Given the description of an element on the screen output the (x, y) to click on. 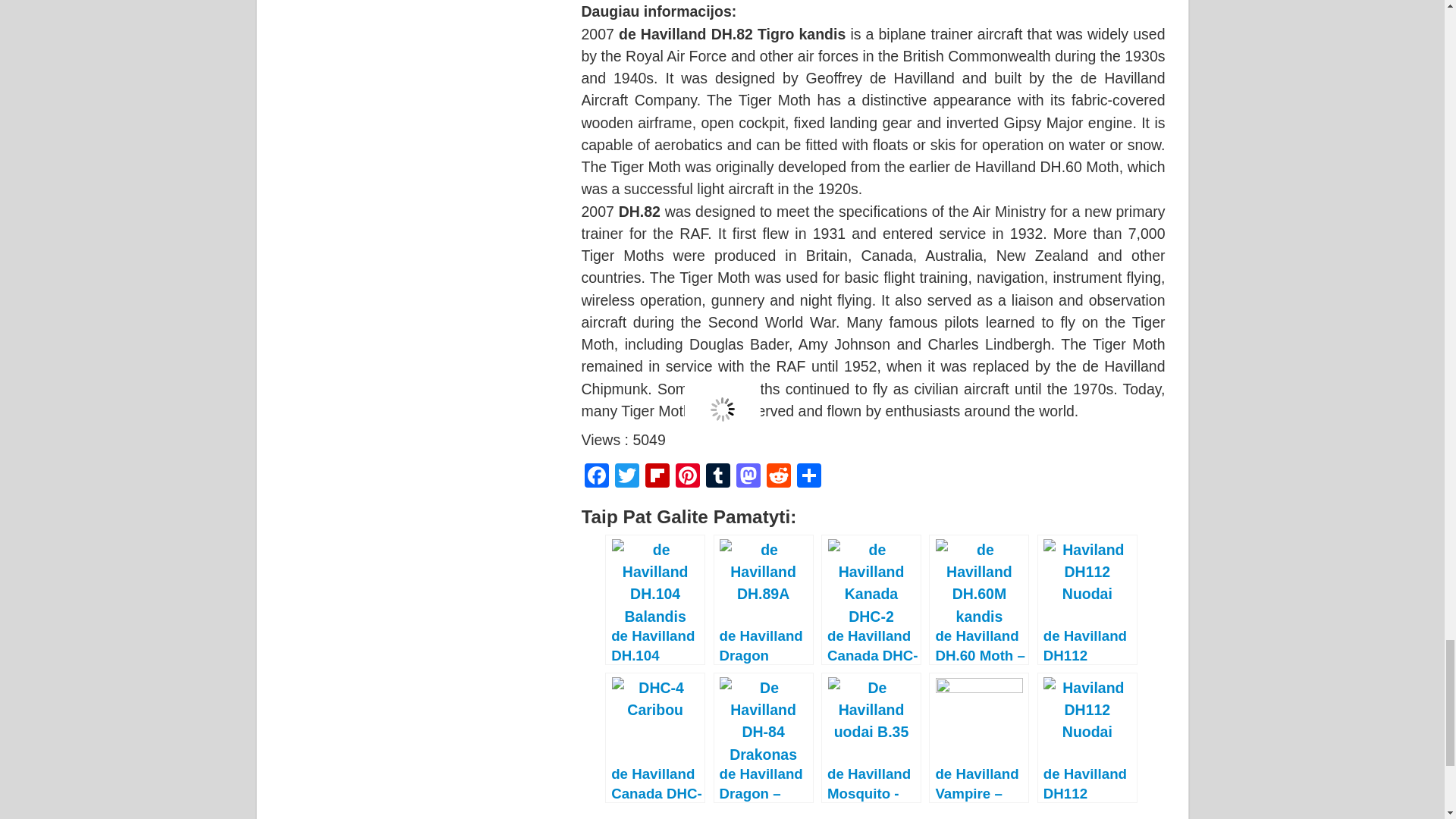
Tumblr (716, 477)
Pinterest (686, 477)
Reddit (777, 477)
Facebook (595, 477)
Twitter (626, 477)
Mastodonas (747, 477)
